Given the description of an element on the screen output the (x, y) to click on. 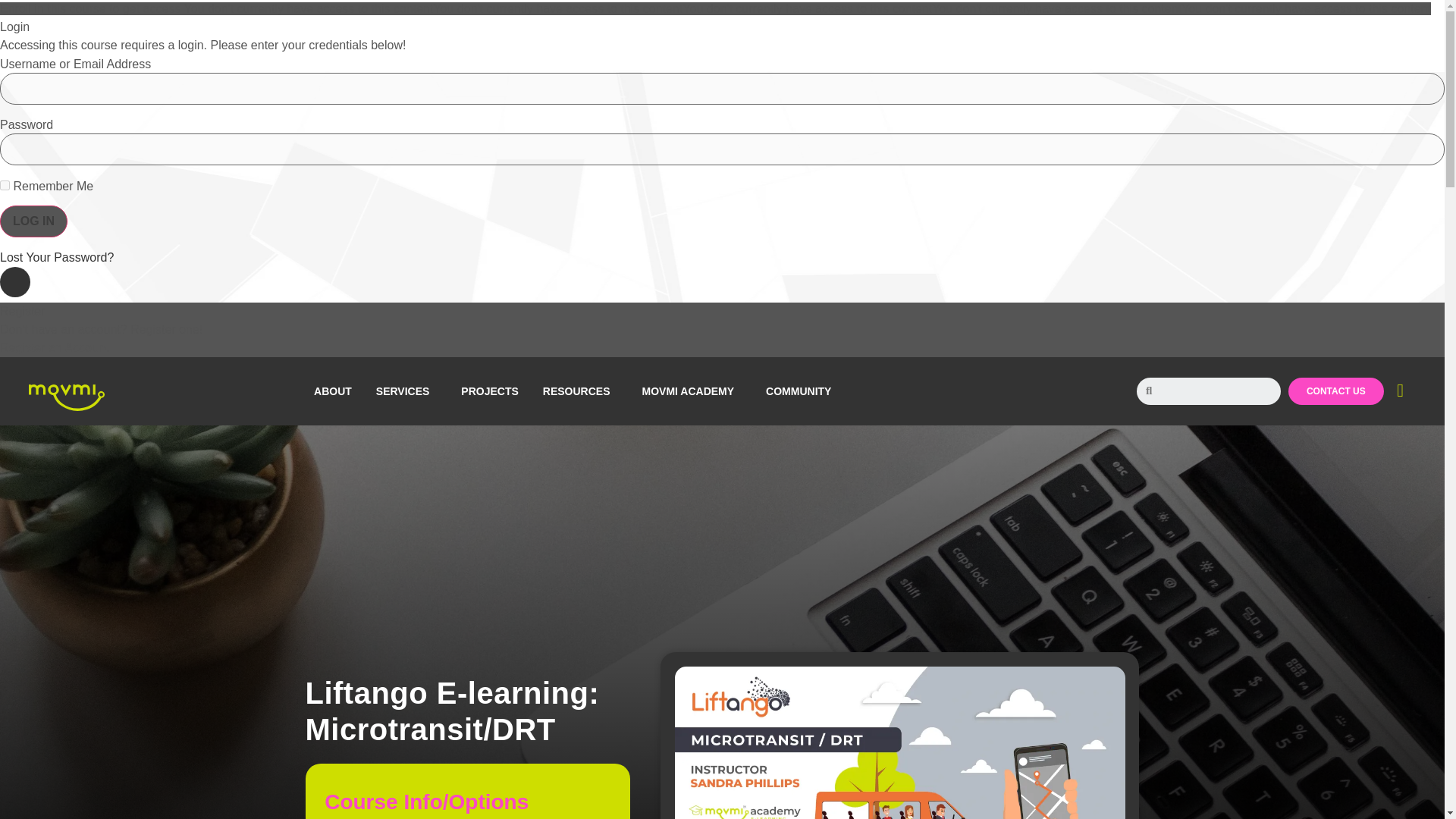
ABOUT (332, 390)
Log In (33, 221)
Log In (33, 221)
forever (5, 185)
RESOURCES (580, 390)
COMMUNITY (802, 390)
SERVICES (406, 390)
MOVMI ACADEMY (692, 390)
Register an Account (53, 347)
Lost Your Password? (56, 256)
PROJECTS (488, 390)
